Given the description of an element on the screen output the (x, y) to click on. 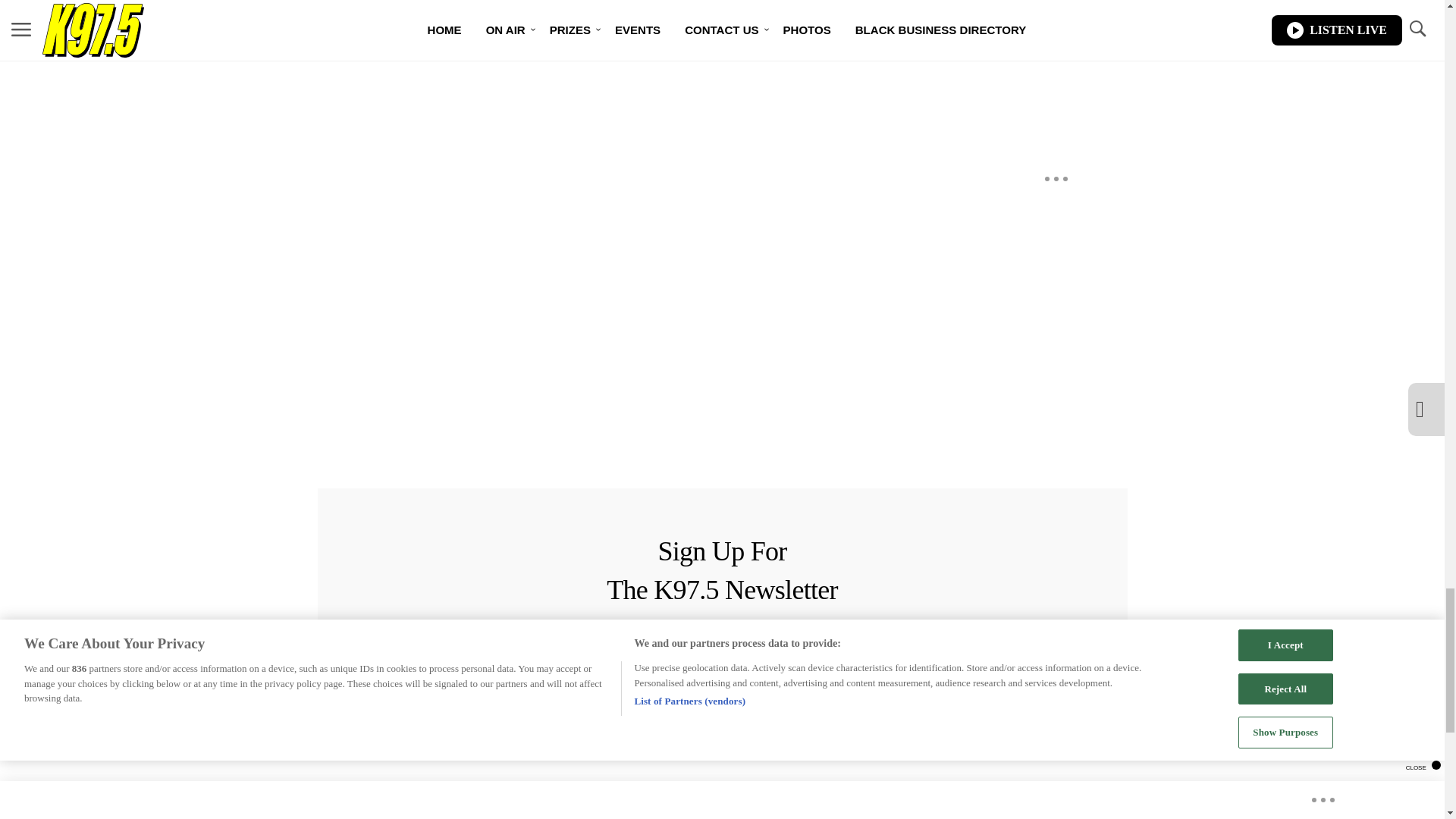
Vuukle Comments Widget (585, 82)
